Given the description of an element on the screen output the (x, y) to click on. 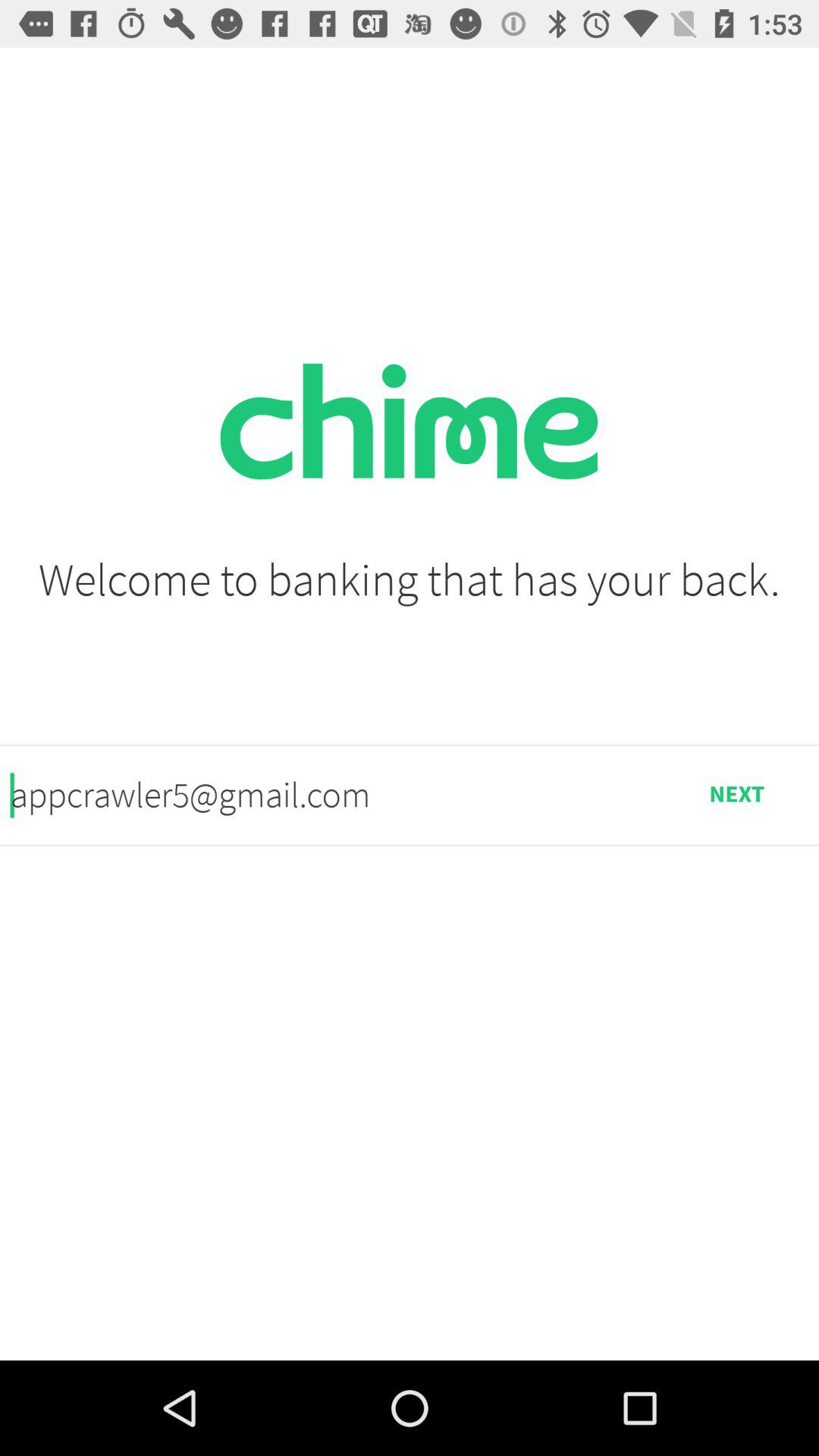
turn on the appcrawler5@gmail.com (332, 794)
